Given the description of an element on the screen output the (x, y) to click on. 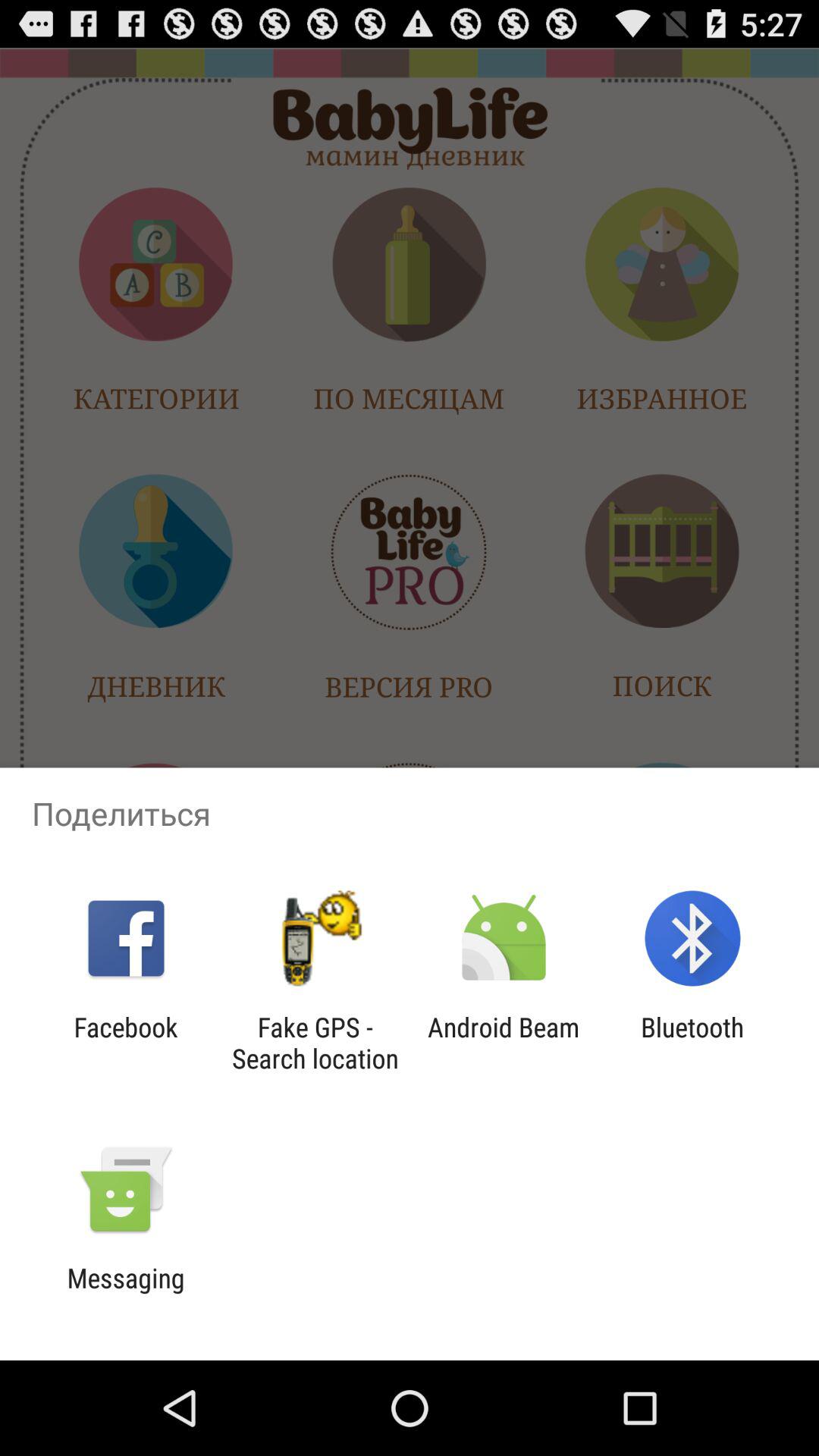
tap messaging item (125, 1293)
